Given the description of an element on the screen output the (x, y) to click on. 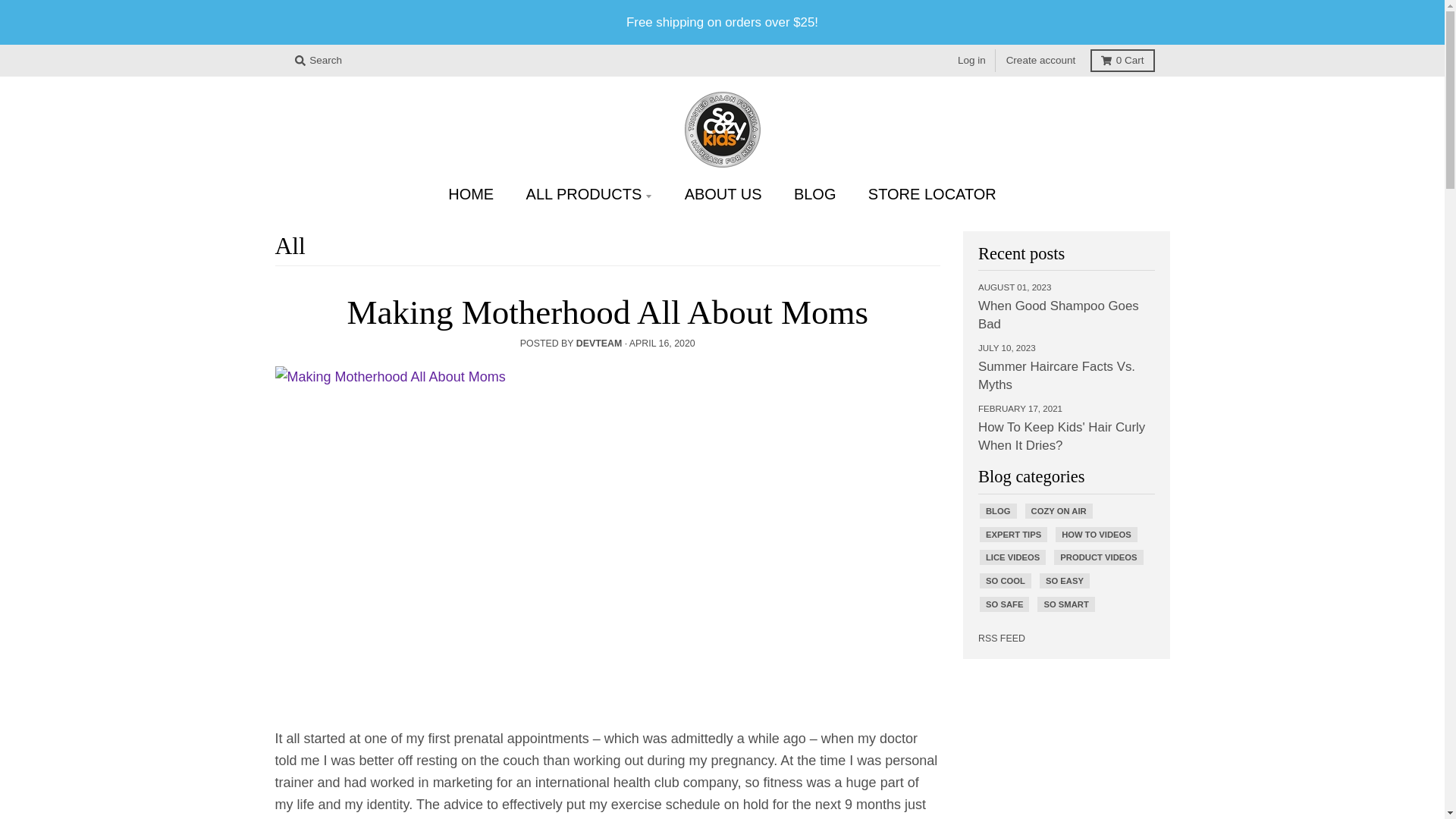
Log in (971, 60)
Show articles tagged How To Videos (1095, 534)
Show articles tagged blog (997, 510)
BLOG (814, 193)
Create account (1040, 60)
0 Cart (1122, 60)
ALL PRODUCTS (589, 193)
STORE LOCATOR (931, 193)
HOME (470, 193)
Search (317, 60)
